Given the description of an element on the screen output the (x, y) to click on. 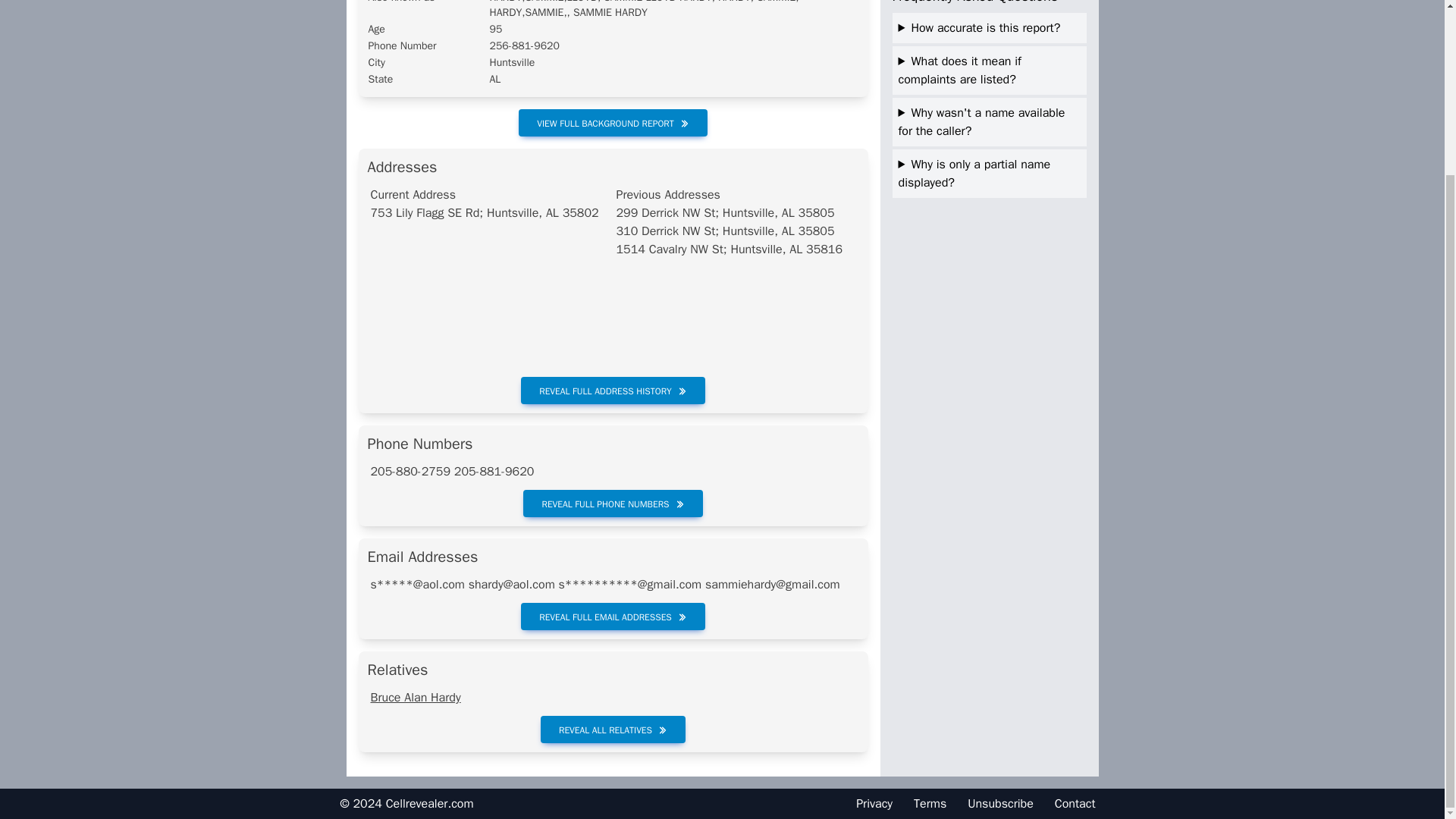
VIEW FULL BACKGROUND REPORT (612, 122)
205-881-9620 (494, 471)
Bruce Alan Hardy (414, 697)
REVEAL FULL ADDRESS HISTORY (612, 390)
REVEAL FULL PHONE NUMBERS (611, 502)
REVEAL ALL RELATIVES (612, 728)
205-880-2759 (409, 471)
REVEAL FULL EMAIL ADDRESSES (612, 615)
